Given the description of an element on the screen output the (x, y) to click on. 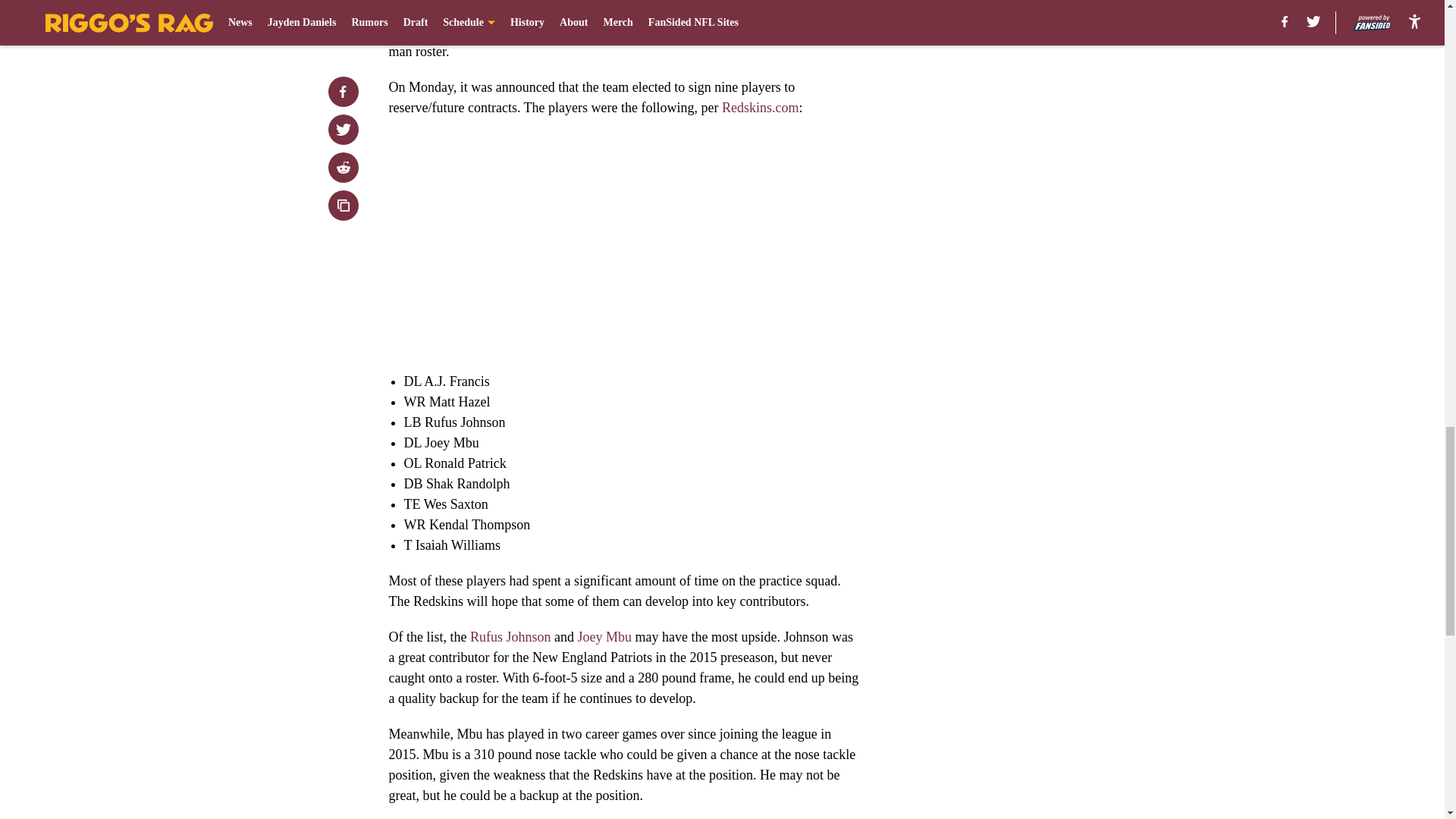
Redskins.com (760, 107)
Joey Mbu (604, 636)
Rufus Johnson (510, 636)
